Given the description of an element on the screen output the (x, y) to click on. 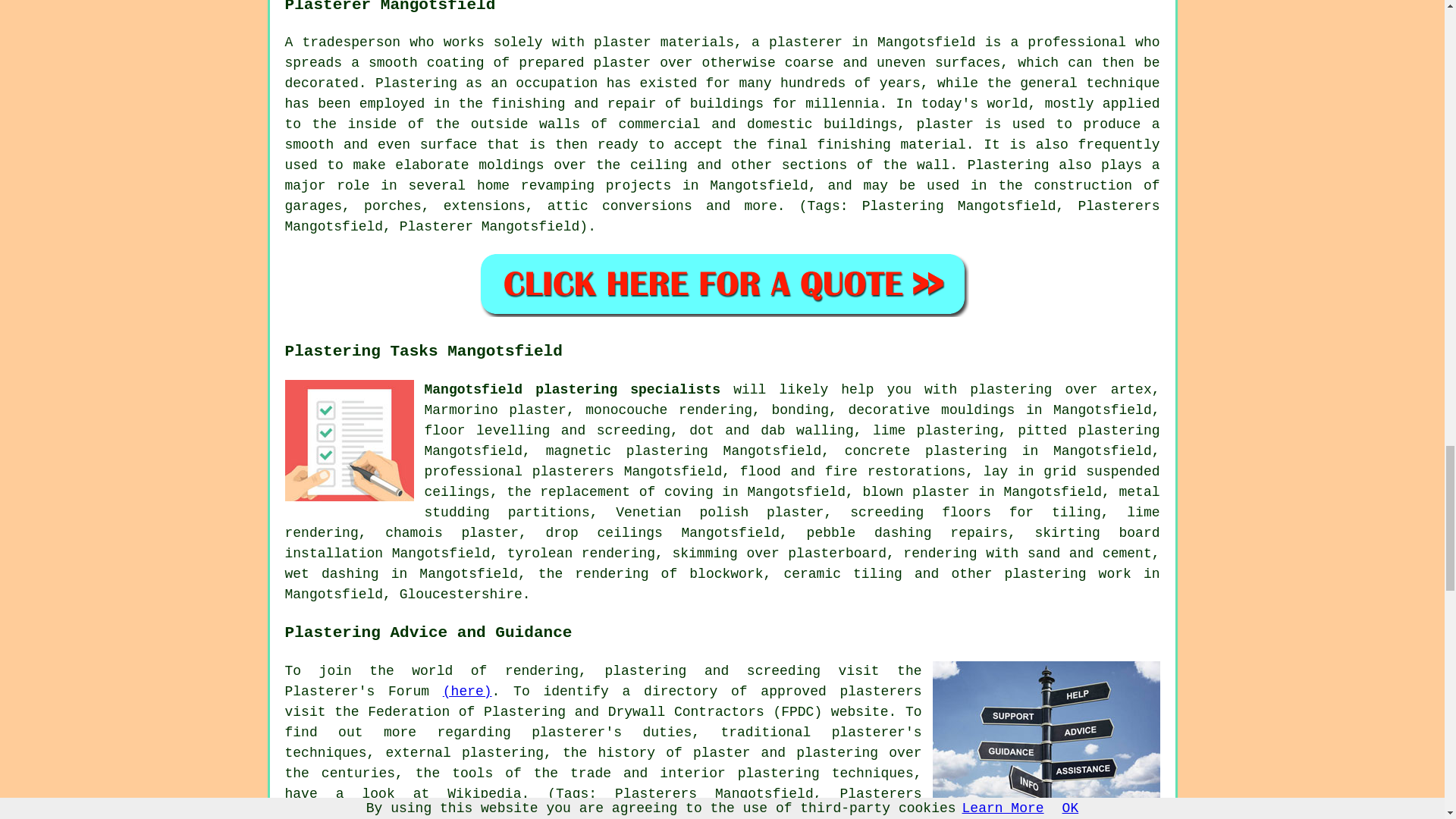
Plastering Advice Mangotsfield (1046, 734)
Plastering Tasks Mangotsfield (349, 444)
Click for a Plasterer in Mangotsfield (722, 283)
